Given the description of an element on the screen output the (x, y) to click on. 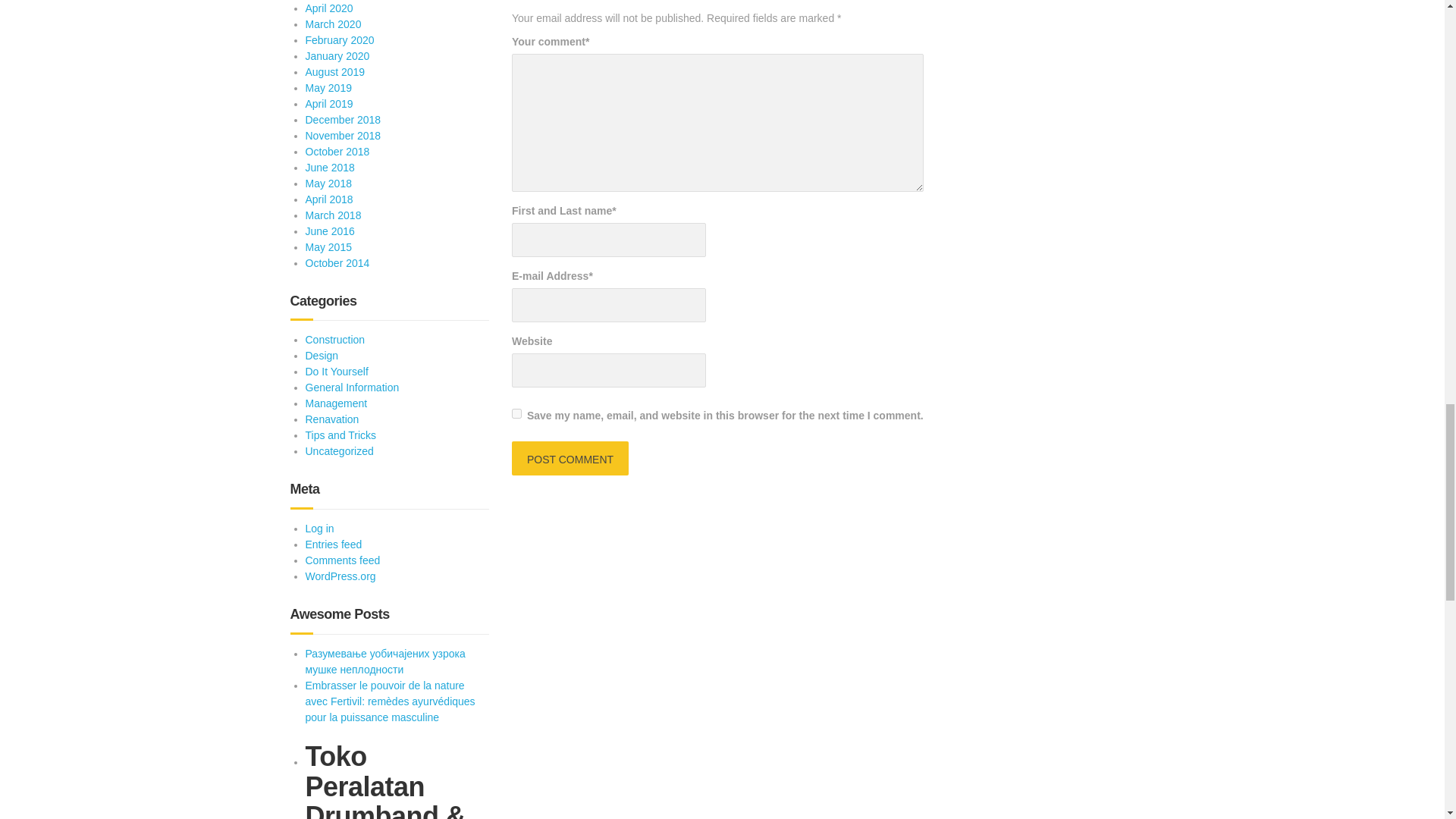
Post Comment (570, 458)
yes (516, 413)
Post Comment (570, 458)
